Given the description of an element on the screen output the (x, y) to click on. 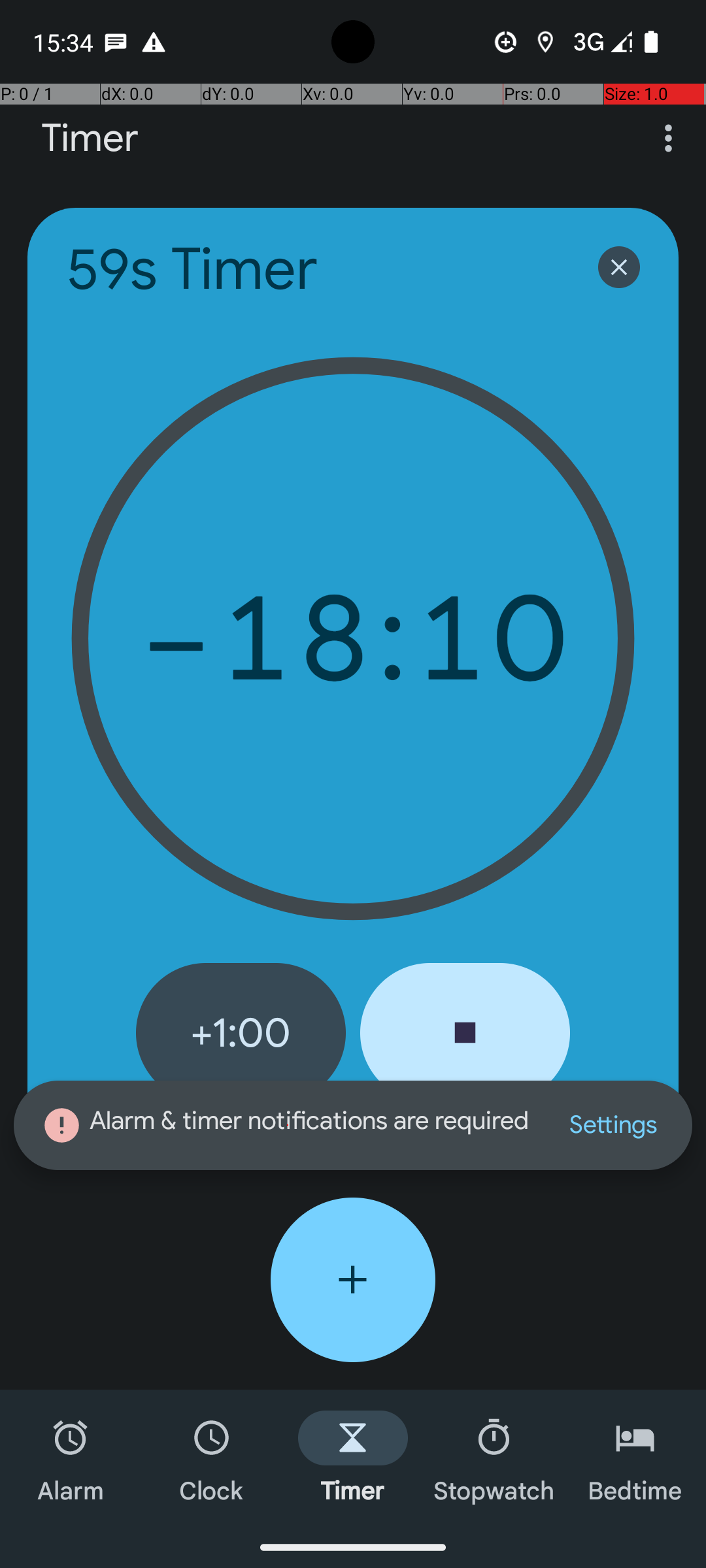
Timer Element type: android.widget.TextView (89, 138)
Add timer Element type: android.widget.Button (352, 1279)
59s Timer Element type: android.widget.TextView (315, 269)
−18:10 Element type: android.widget.TextView (352, 638)
+1:00 Element type: android.widget.Button (240, 1032)
Stop Element type: android.widget.Button (465, 1032)
Alarm Element type: android.widget.FrameLayout (70, 1457)
Clock Element type: android.widget.FrameLayout (211, 1457)
Stopwatch Element type: android.widget.FrameLayout (493, 1457)
Bedtime Element type: android.widget.FrameLayout (635, 1457)
Alarm & timer notifications are required Element type: android.widget.TextView (287, 1125)
Settings Element type: android.widget.Button (612, 1124)
Data Saver is on Element type: android.widget.ImageView (505, 41)
